Given the description of an element on the screen output the (x, y) to click on. 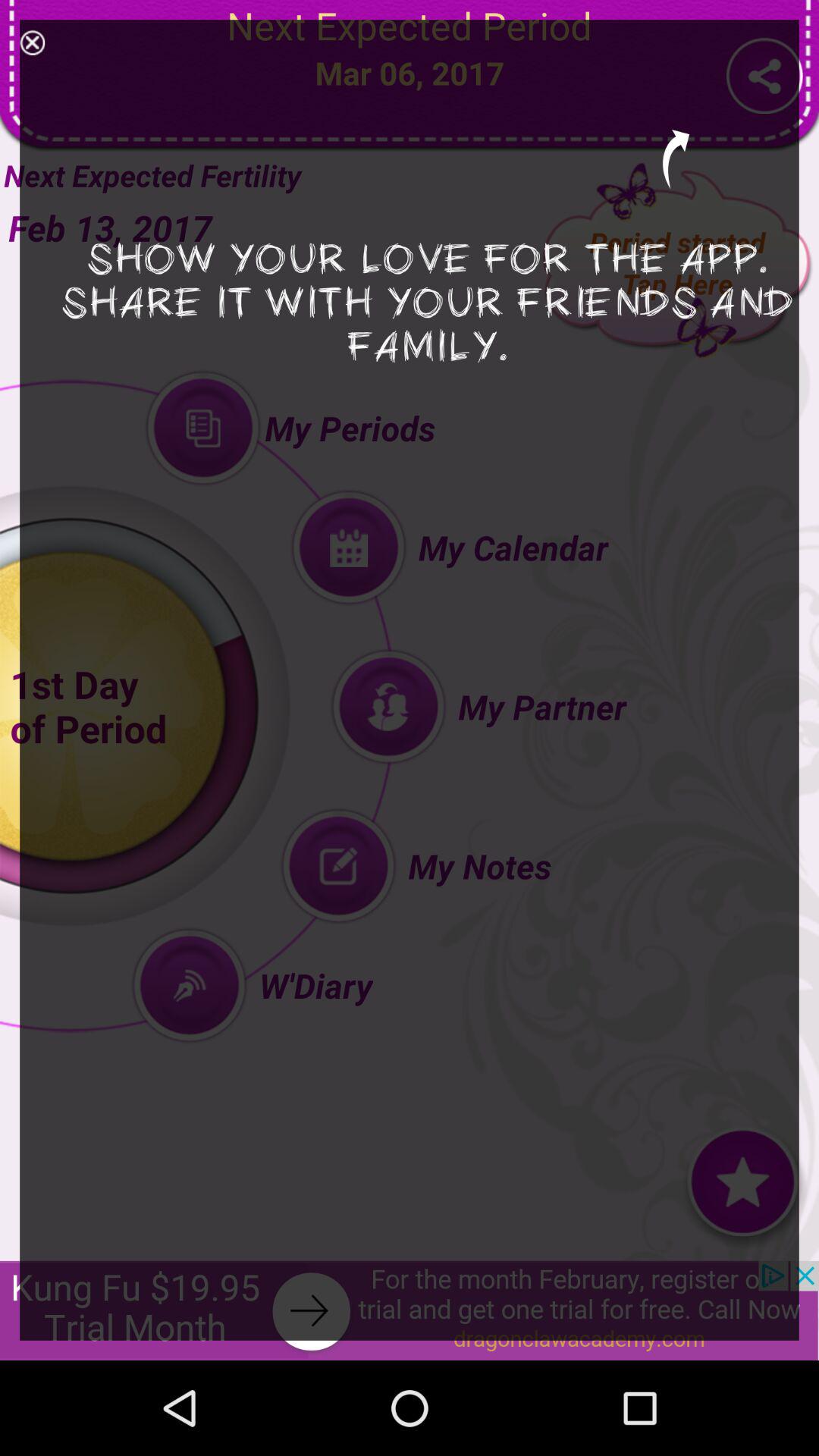
select item next to the h (31, 42)
